Given the description of an element on the screen output the (x, y) to click on. 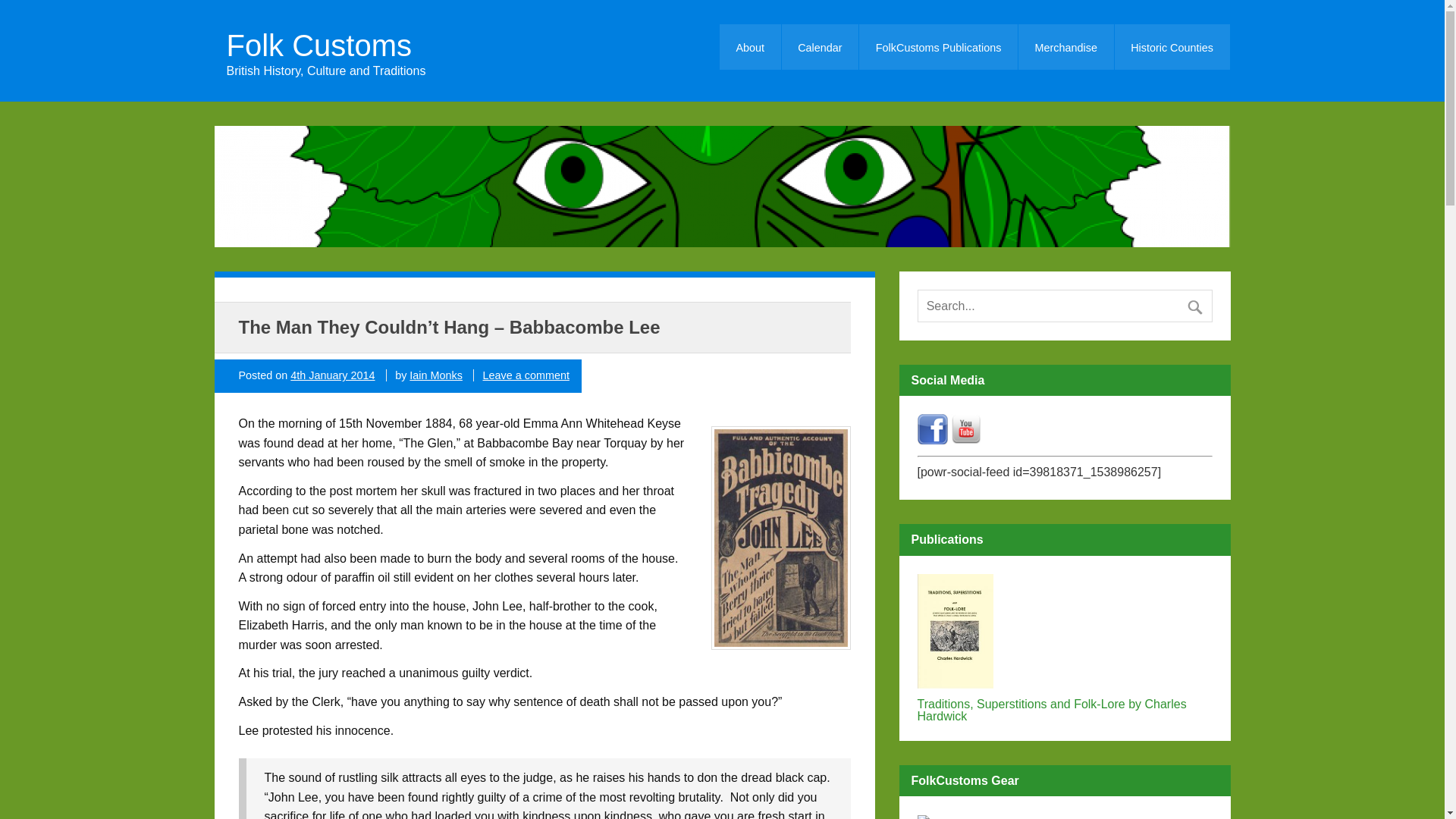
Folk Customs (325, 45)
View all posts by Iain Monks (436, 375)
Leave a comment (526, 375)
Traditions, Superstitions and Folk-Lore by Charles Hardwick (1064, 710)
About (749, 46)
Historic Counties (1172, 46)
Calendar (820, 46)
FolkCustoms Publications (938, 46)
Iain Monks (436, 375)
Merchandise (1065, 46)
